Given the description of an element on the screen output the (x, y) to click on. 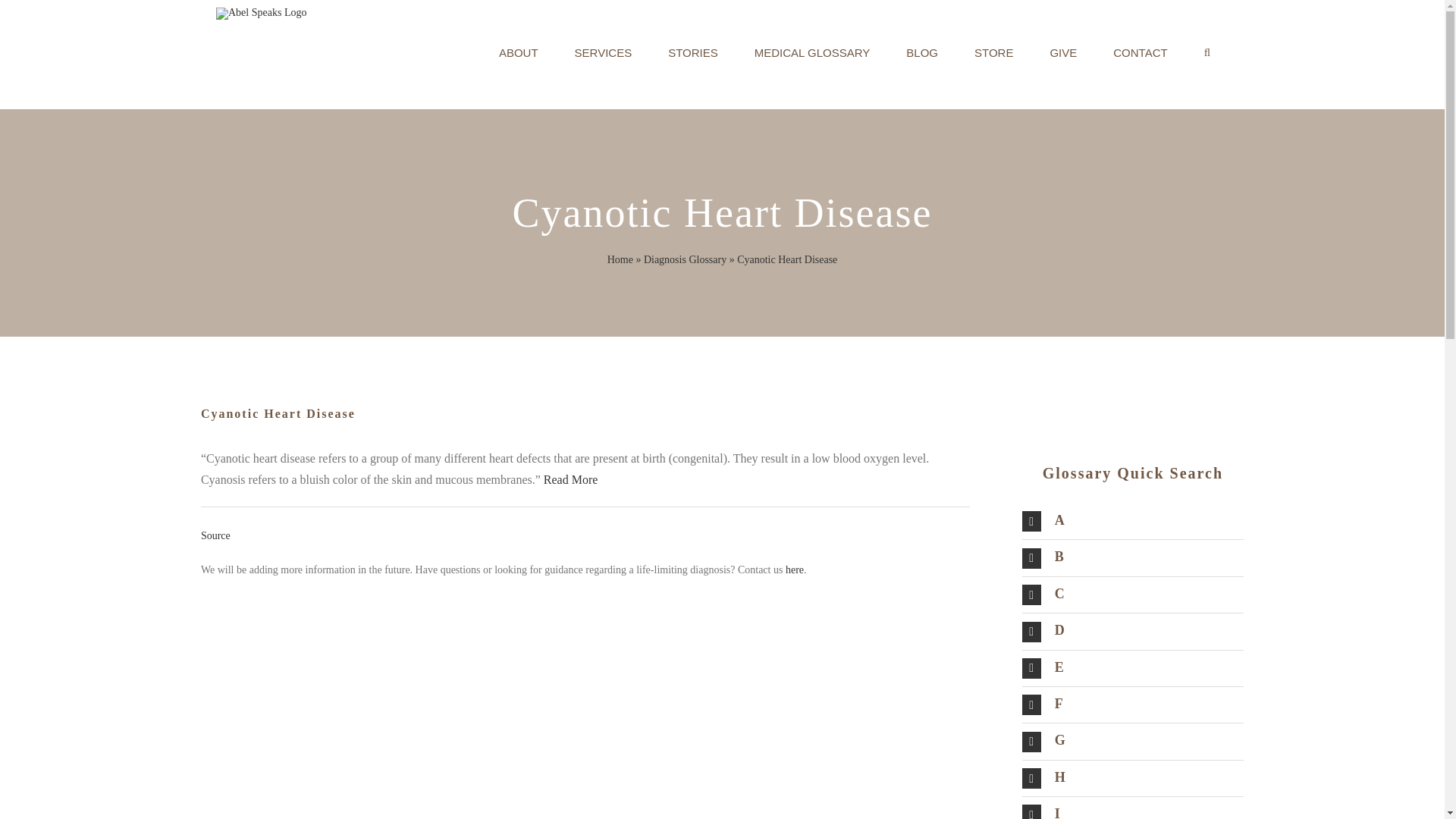
Source (215, 535)
here (794, 569)
Home (620, 259)
A (1132, 520)
Read More (570, 479)
Diagnosis Glossary (684, 259)
MEDICAL GLOSSARY (812, 52)
SERVICES (603, 52)
